Given the description of an element on the screen output the (x, y) to click on. 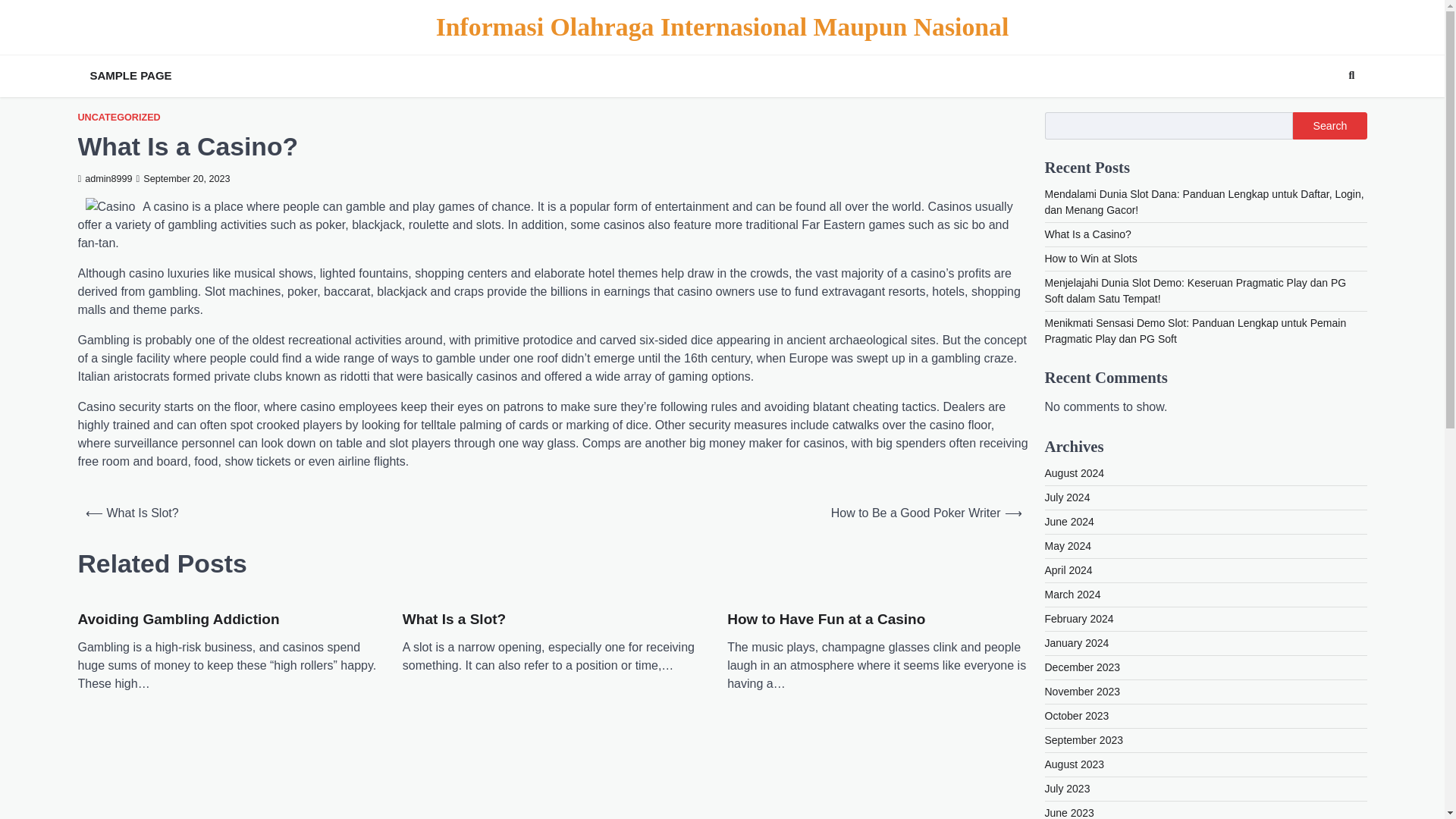
Search (1351, 75)
What Is a Slot? (454, 619)
September 2023 (1084, 739)
July 2023 (1067, 788)
April 2024 (1069, 570)
October 2023 (1077, 715)
How to Have Fun at a Casino (825, 619)
August 2024 (1075, 472)
June 2023 (1069, 812)
